Given the description of an element on the screen output the (x, y) to click on. 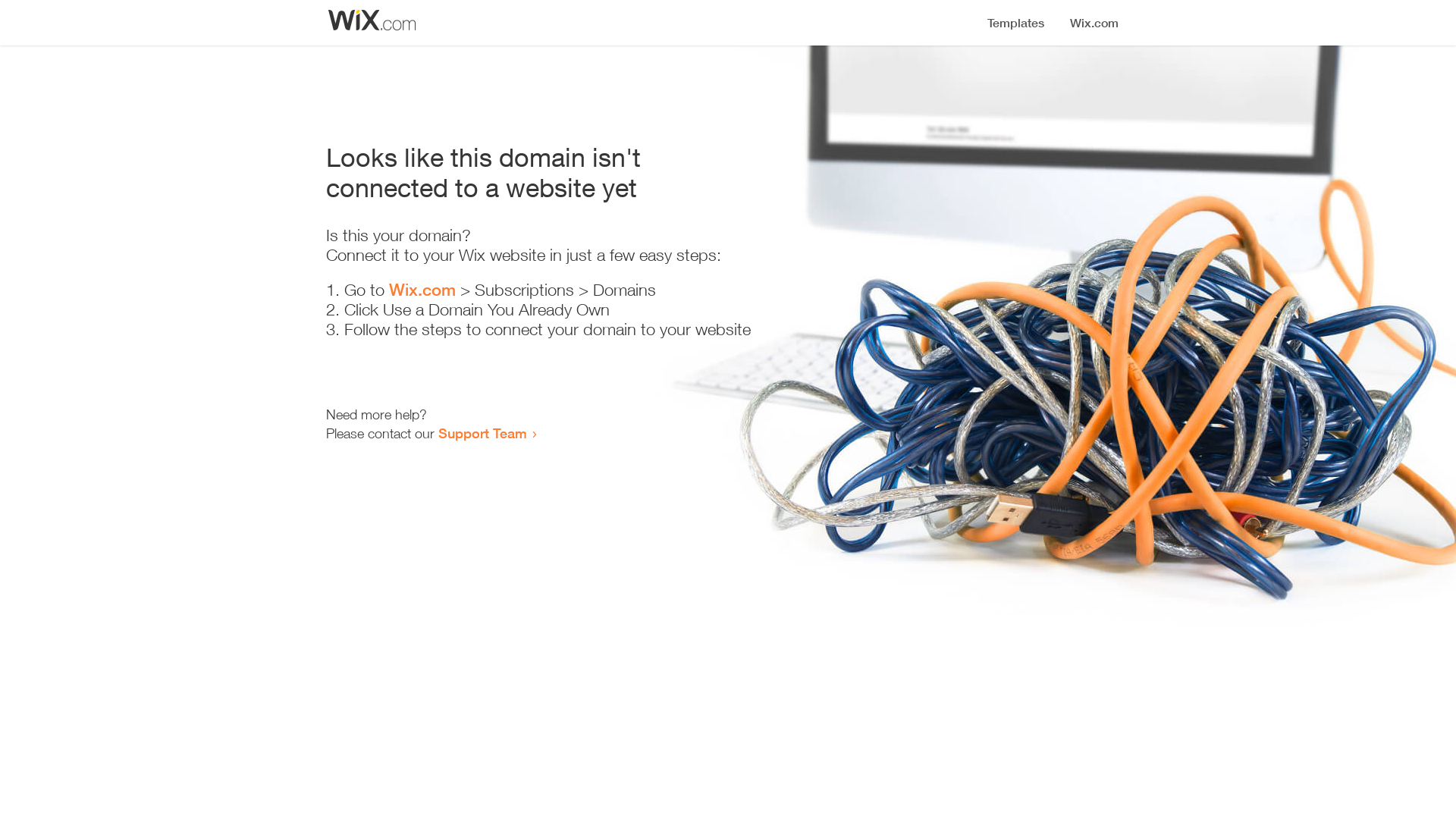
Support Team Element type: text (482, 432)
Wix.com Element type: text (422, 289)
